Given the description of an element on the screen output the (x, y) to click on. 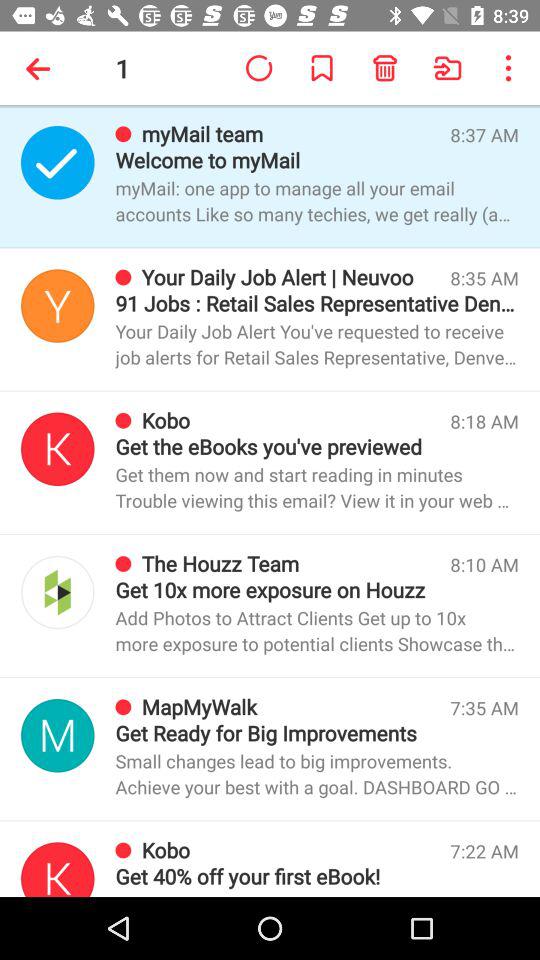
sender icon (57, 162)
